Given the description of an element on the screen output the (x, y) to click on. 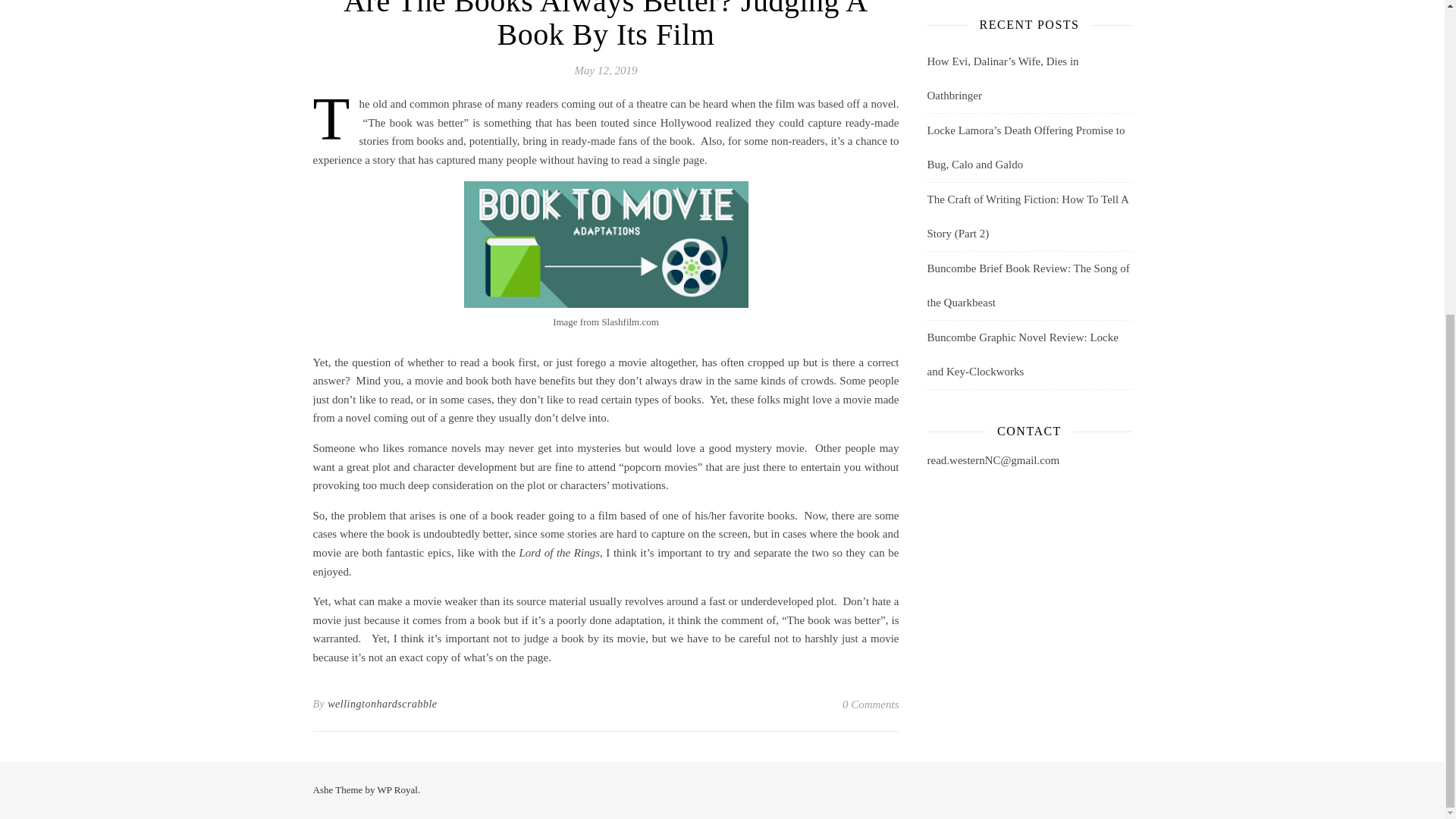
Posts by wellingtonhardscrabble (381, 703)
WP Royal (397, 789)
Buncombe Brief Book Review: The Song of the Quarkbeast (1027, 285)
0 Comments (871, 703)
Buncombe Graphic Novel Review: Locke and Key-Clockworks (1022, 354)
wellingtonhardscrabble (381, 703)
